Given the description of an element on the screen output the (x, y) to click on. 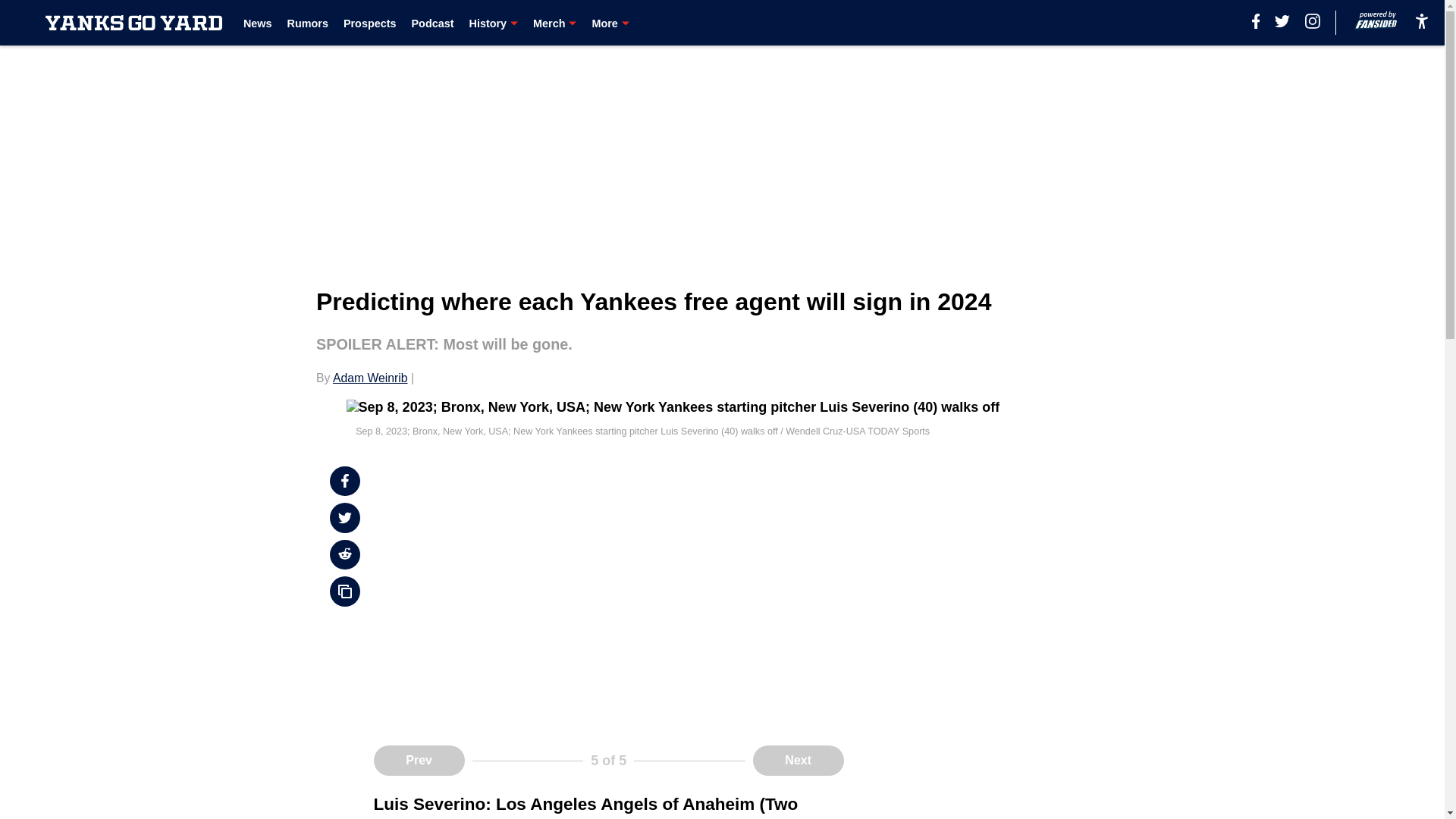
Podcast (431, 23)
Adam Weinrib (370, 377)
News (257, 23)
Rumors (307, 23)
Prev (419, 760)
Prospects (369, 23)
